Given the description of an element on the screen output the (x, y) to click on. 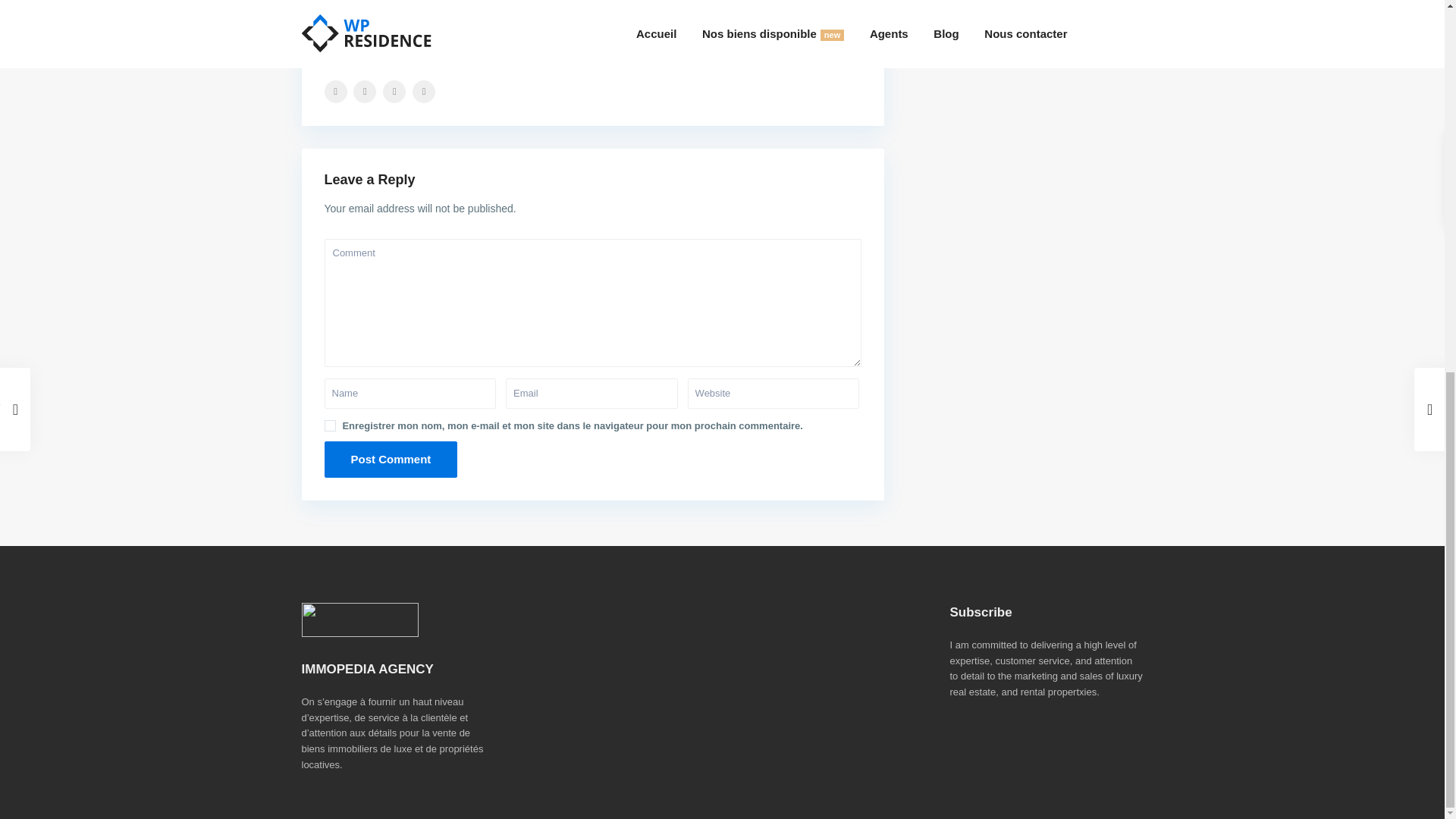
yes (330, 425)
Post Comment (391, 459)
Post Comment (391, 459)
